Given the description of an element on the screen output the (x, y) to click on. 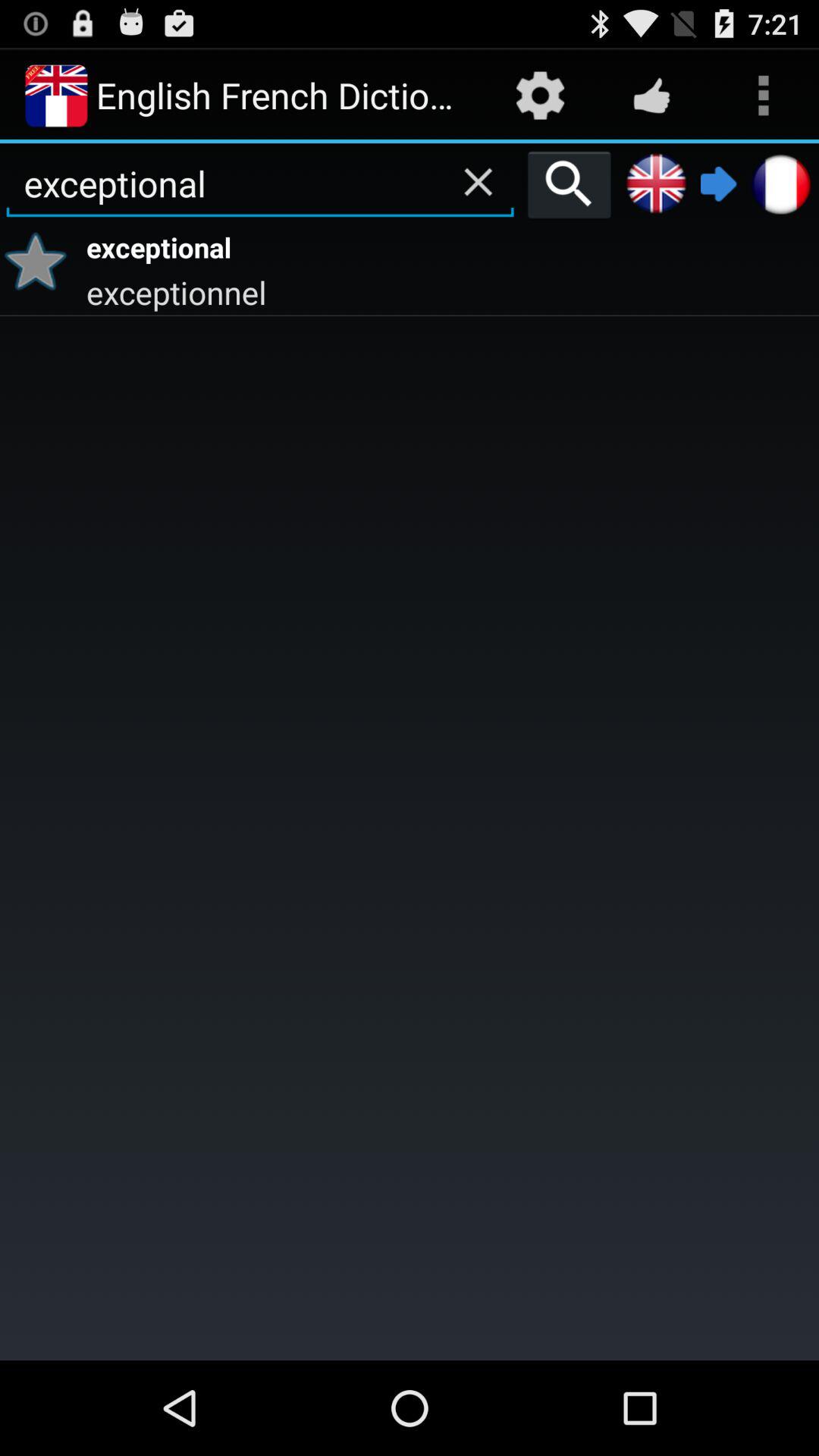
launch the app above the exceptional (478, 181)
